Given the description of an element on the screen output the (x, y) to click on. 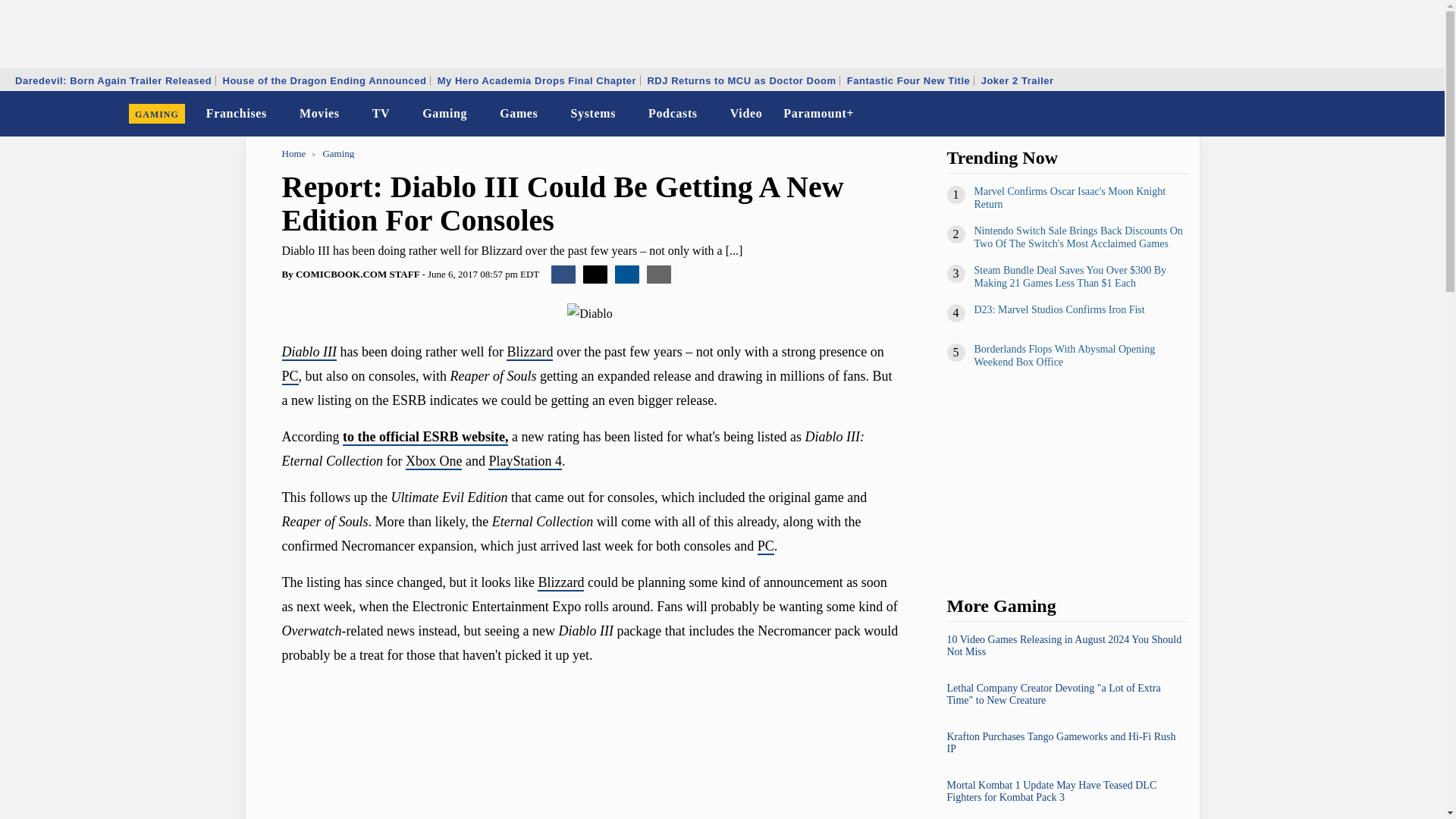
Gaming (444, 113)
Movies (320, 113)
Joker 2 Trailer (1017, 80)
Search (1422, 114)
Fantastic Four New Title (908, 80)
Diablo (589, 313)
Dark Mode (1394, 113)
GAMING (157, 113)
House of the Dragon Ending Announced (323, 80)
My Hero Academia Drops Final Chapter (536, 80)
